Given the description of an element on the screen output the (x, y) to click on. 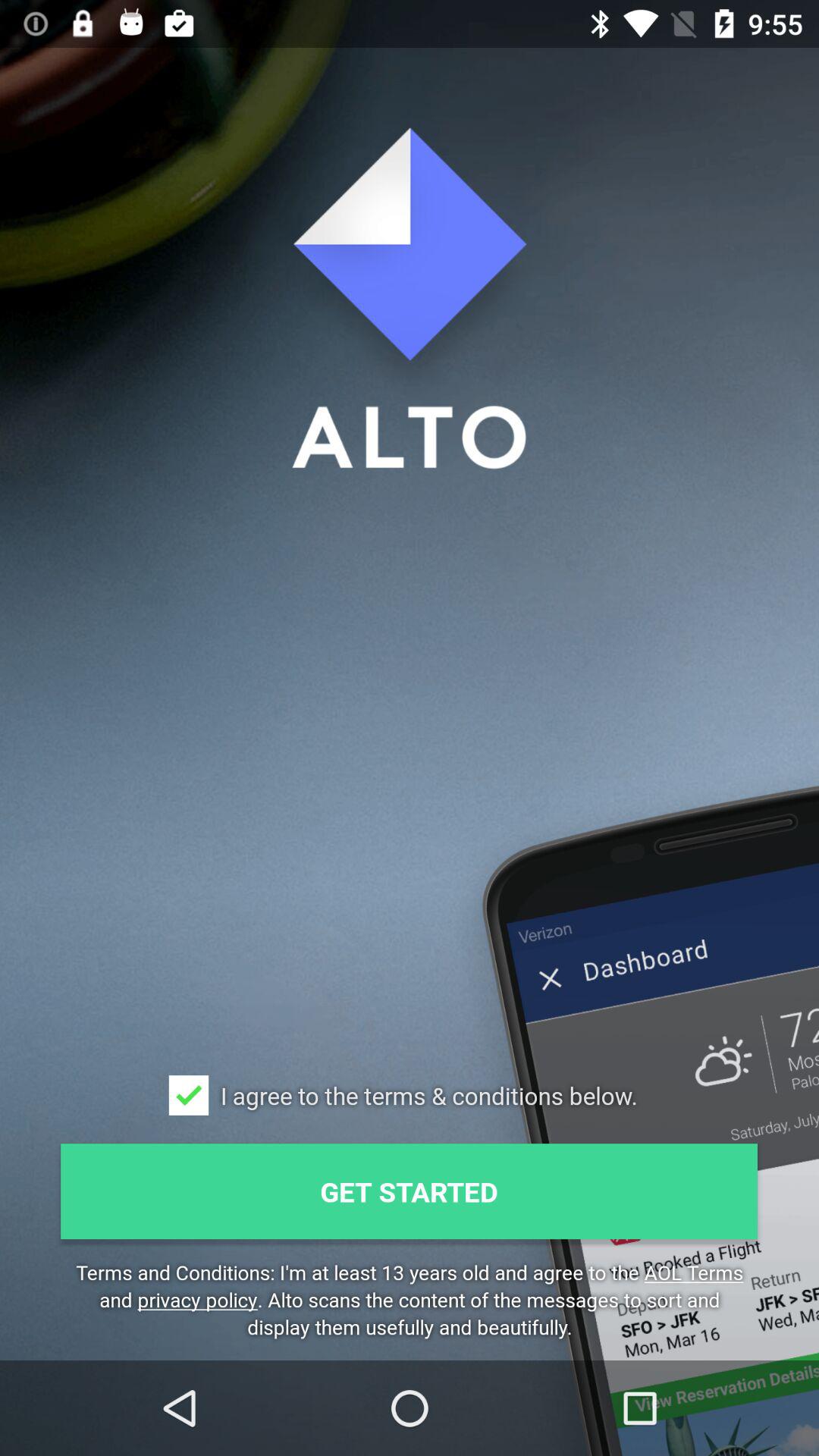
tap the get started (408, 1191)
